Given the description of an element on the screen output the (x, y) to click on. 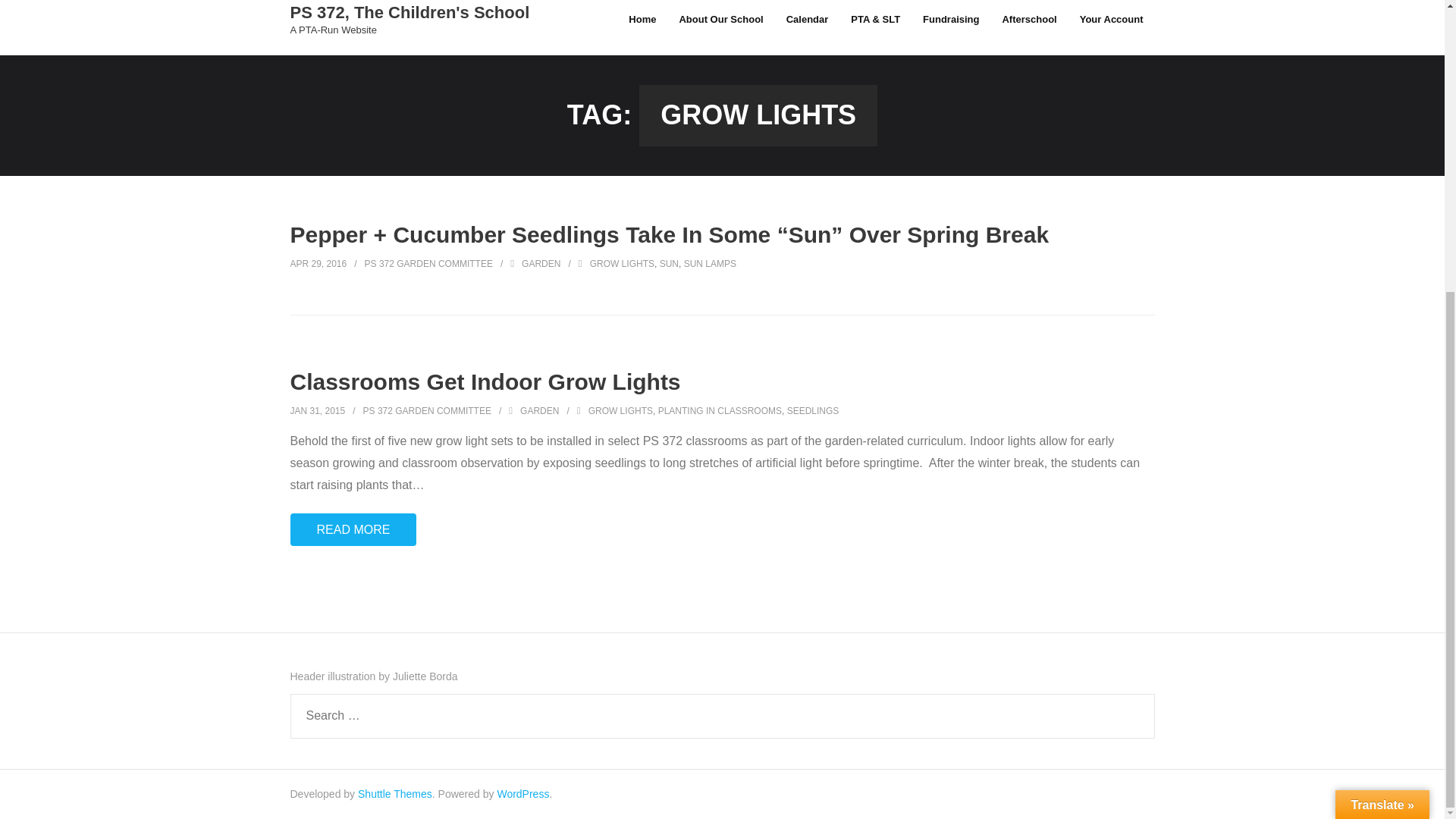
Your Account (1111, 27)
About Our School (720, 27)
Afterschool (409, 18)
Permalink to Classrooms Get Indoor Grow Lights (1028, 27)
View all posts by PS 372 Garden Committee (484, 381)
Classrooms Get Indoor Grow Lights (427, 410)
A PTA-Run Website (317, 410)
Home (409, 30)
Calendar (641, 27)
